Given the description of an element on the screen output the (x, y) to click on. 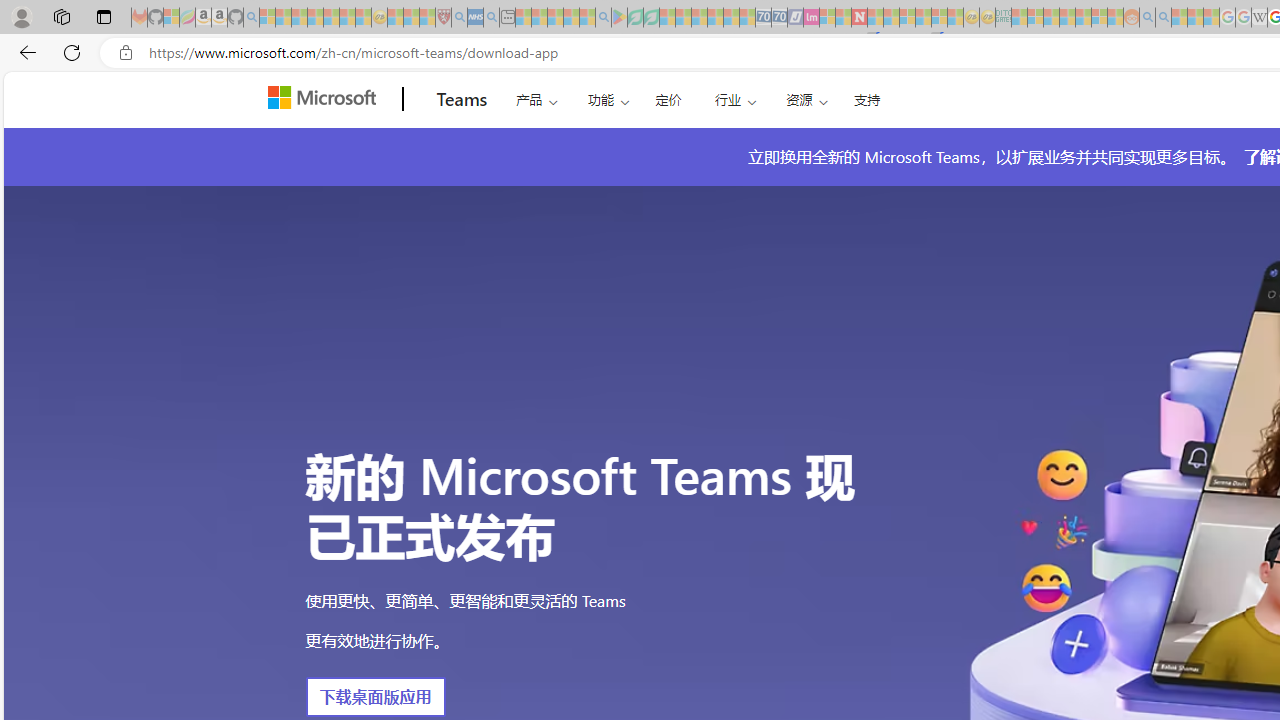
Target page - Wikipedia - Sleeping (1259, 17)
Robert H. Shmerling, MD - Harvard Health - Sleeping (443, 17)
Expert Portfolios - Sleeping (1067, 17)
Bluey: Let's Play! - Apps on Google Play - Sleeping (619, 17)
Pets - MSN - Sleeping (571, 17)
MSNBC - MSN - Sleeping (1019, 17)
14 Common Myths Debunked By Scientific Facts - Sleeping (891, 17)
Local - MSN - Sleeping (427, 17)
